Given the description of an element on the screen output the (x, y) to click on. 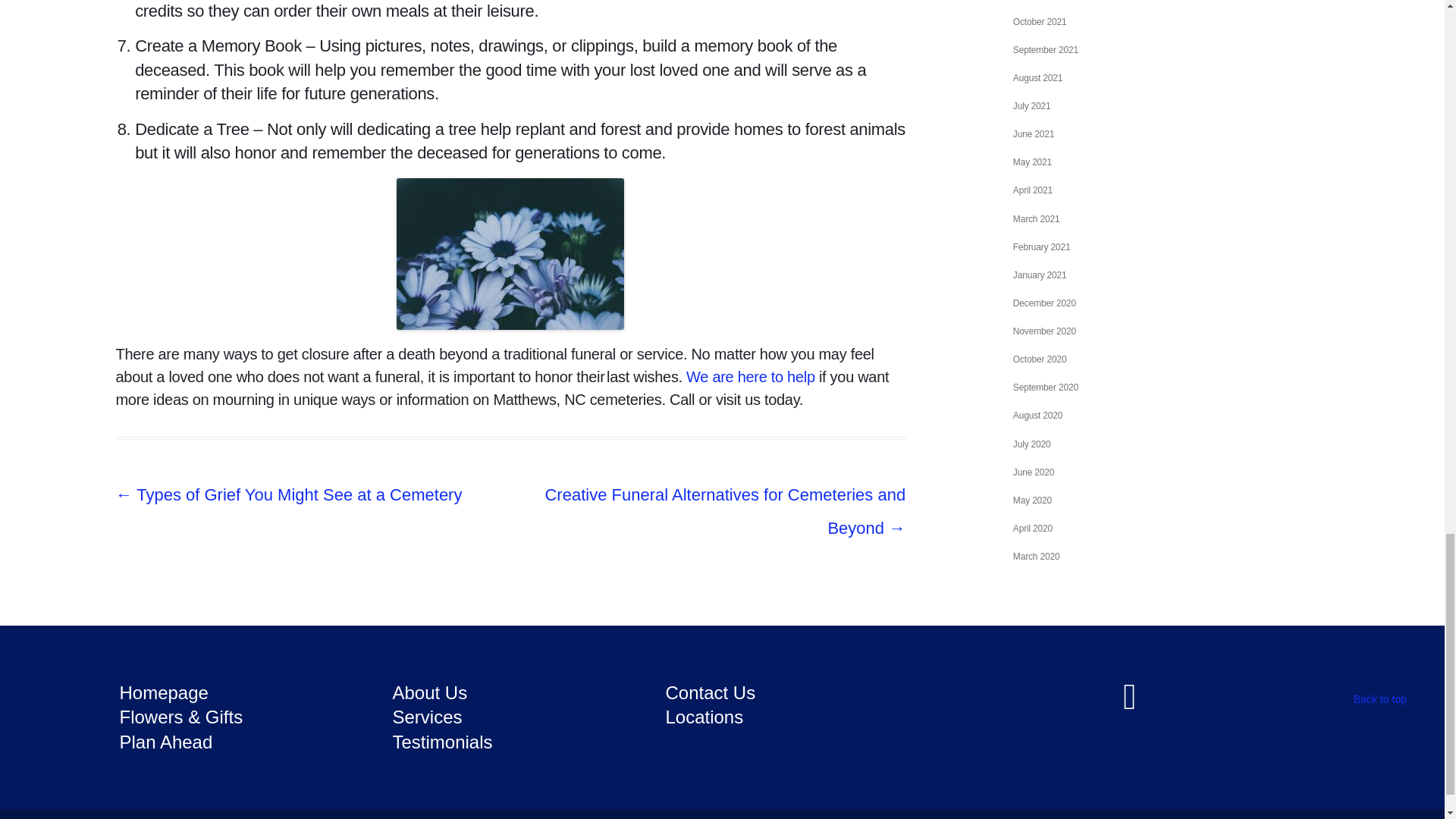
We are here to help (750, 376)
